Given the description of an element on the screen output the (x, y) to click on. 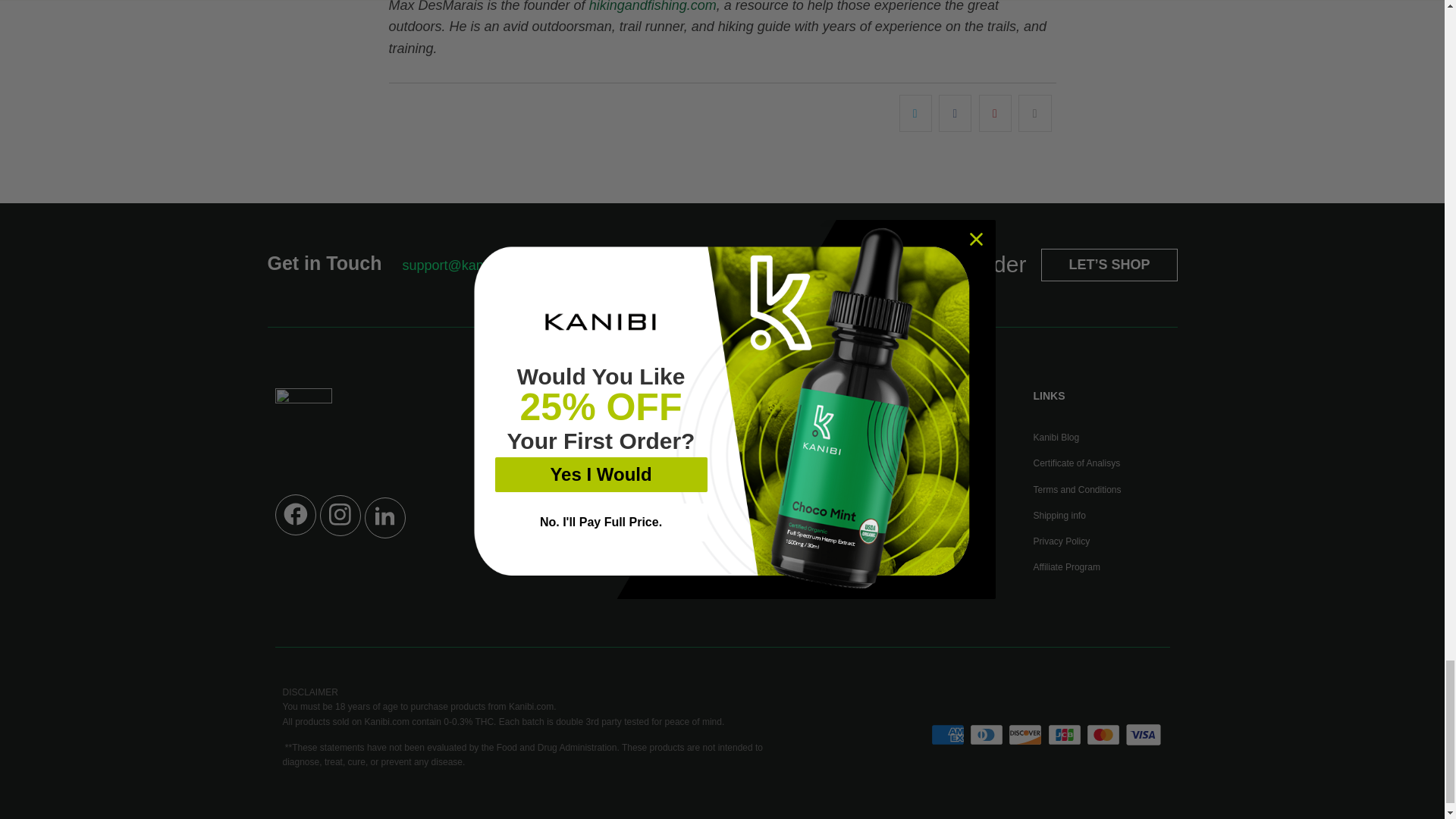
American Express (949, 734)
Visa (1143, 734)
JCB (1066, 734)
Diners Club (987, 734)
Mastercard (1104, 734)
Discover (1027, 734)
